Given the description of an element on the screen output the (x, y) to click on. 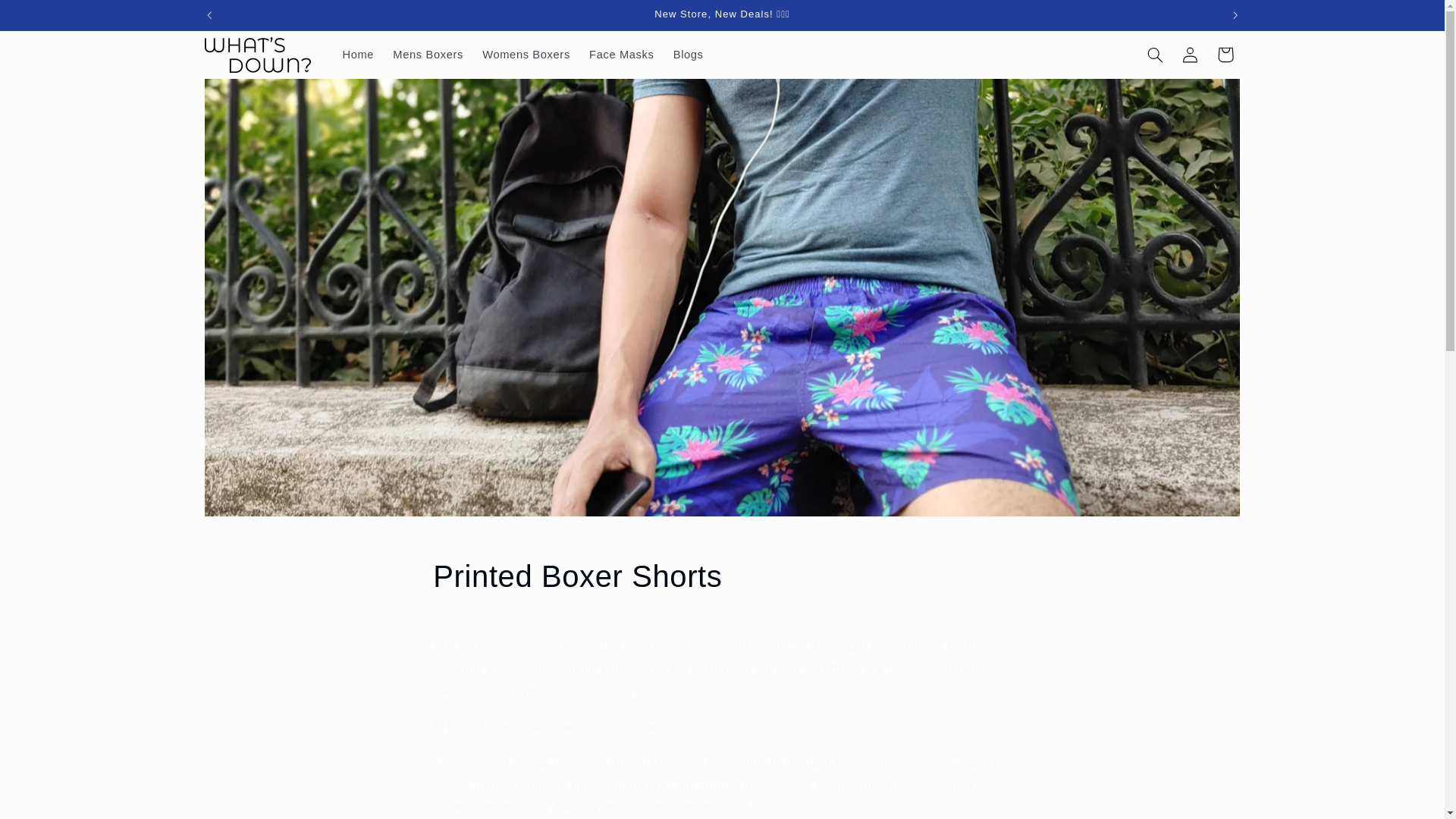
Womens Boxers (526, 54)
Printed Boxer Shorts (721, 576)
Log in (1190, 54)
Home (358, 54)
Blogs (688, 54)
Cart (1225, 54)
Mens Boxers (428, 54)
Face Masks (621, 54)
Skip to content (48, 18)
